Given the description of an element on the screen output the (x, y) to click on. 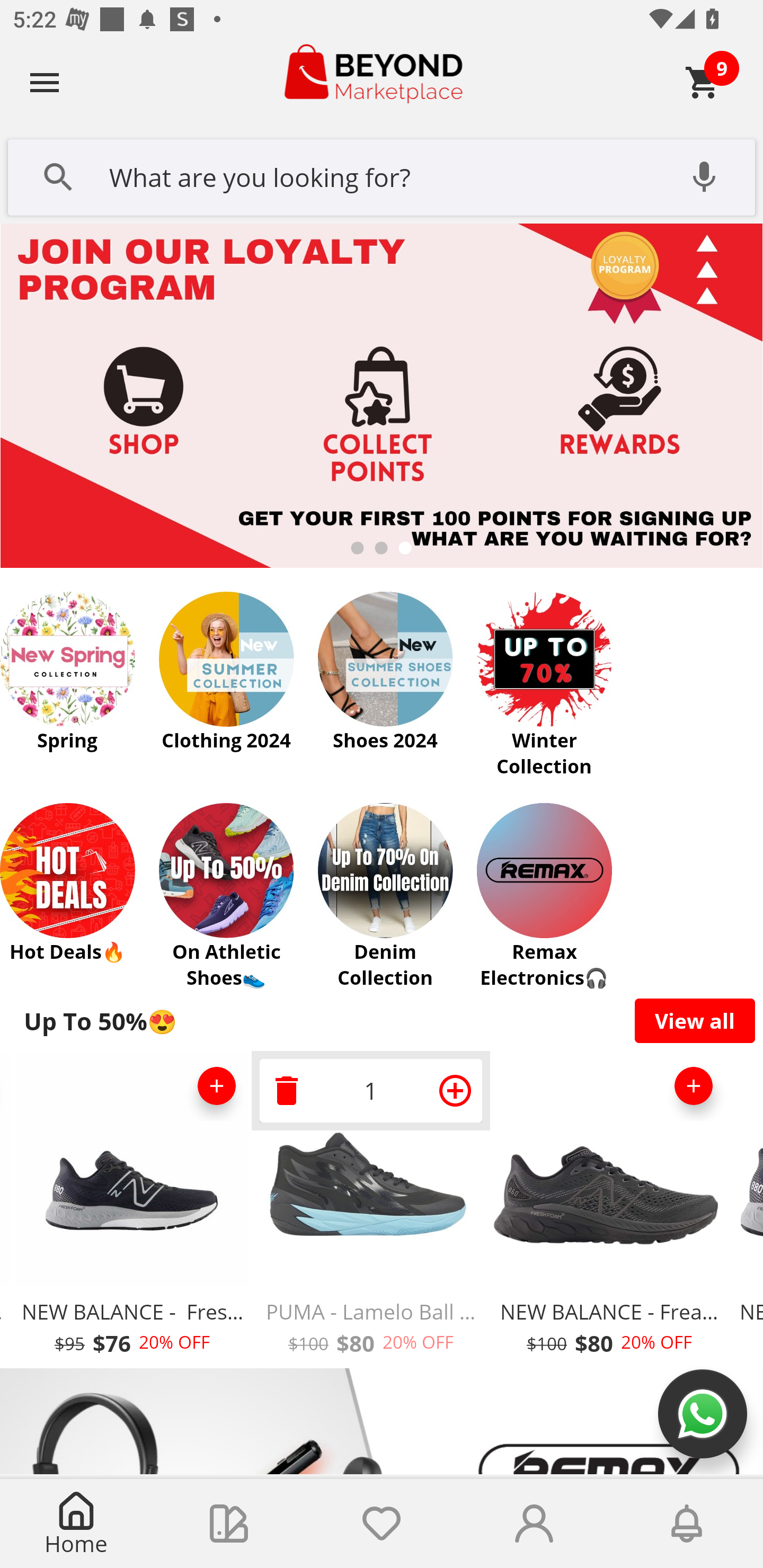
Navigate up (44, 82)
What are you looking for? (381, 175)
View all (694, 1020)
NEW BALANCE -  Fresh Foam X 880 $95 $76 20% OFF (131, 1209)
1 PUMA - Lamelo Ball MB.02 Phenom $100 $80 20% OFF (370, 1209)
1 (370, 1090)
Collections (228, 1523)
Wishlist (381, 1523)
Account (533, 1523)
Notifications (686, 1523)
